Given the description of an element on the screen output the (x, y) to click on. 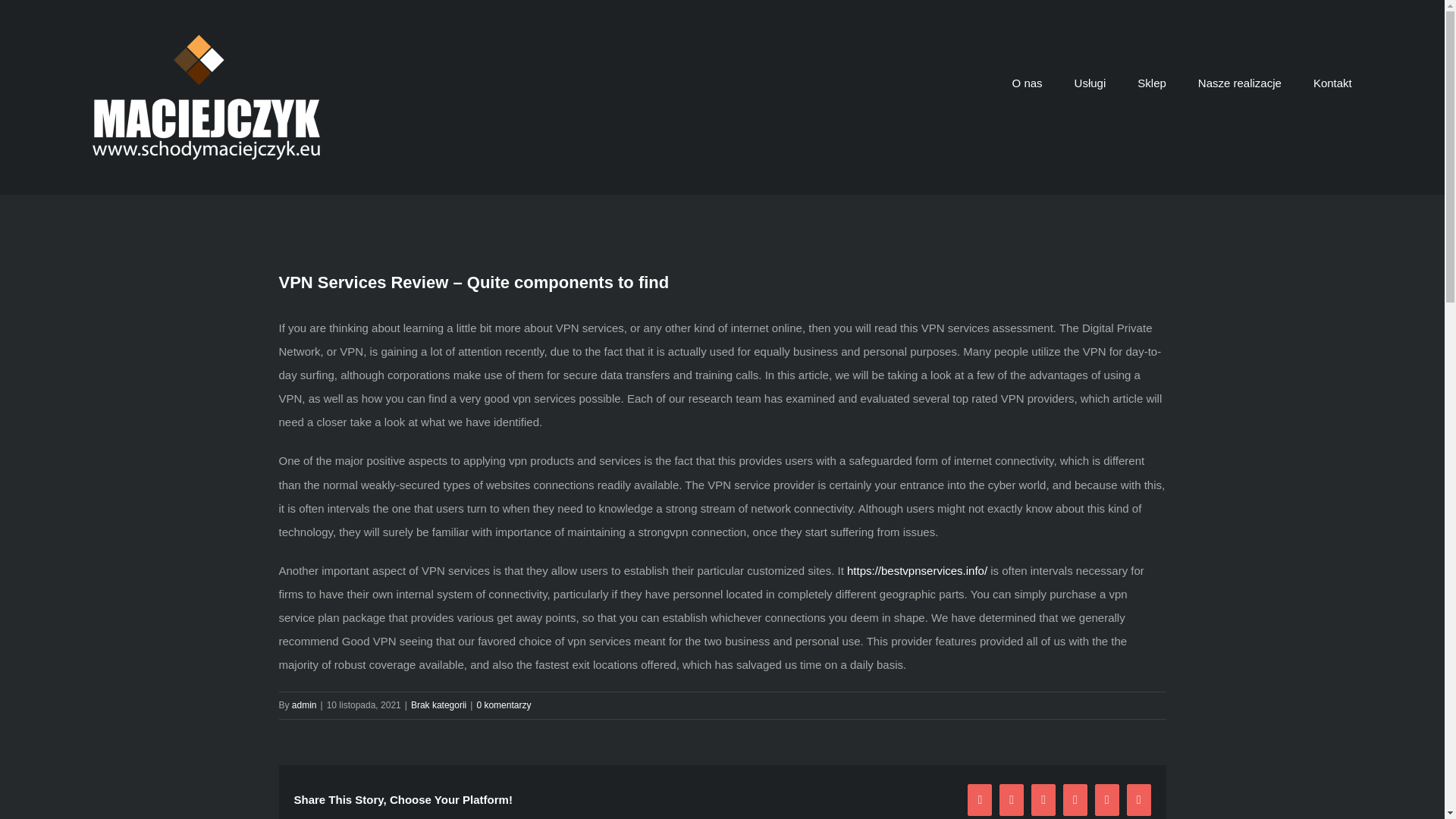
admin (304, 705)
0 komentarzy (503, 705)
Brak kategorii (437, 705)
Wpisy od admin (304, 705)
